Given the description of an element on the screen output the (x, y) to click on. 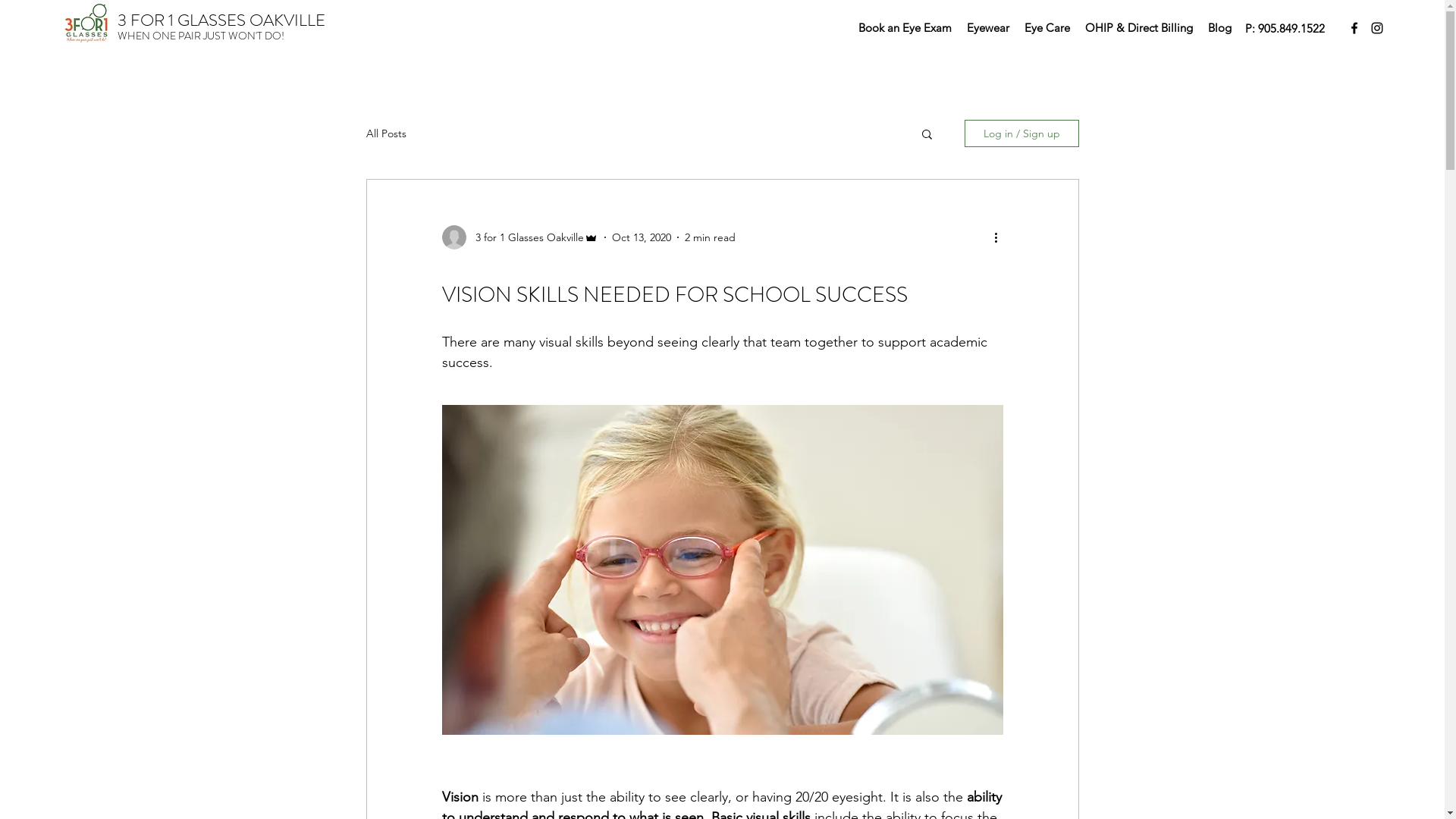
All Posts Element type: text (385, 133)
OHIP & Direct Billing Element type: text (1138, 27)
Eyewear Element type: text (987, 27)
Blog Element type: text (1219, 27)
Log in / Sign up Element type: text (1021, 133)
WHEN ONE PAIR JUST WON'T DO! Element type: text (200, 35)
3 FOR 1 GLASSES OAKVILLE Element type: text (221, 19)
Book an Eye Exam Element type: text (904, 27)
Eye Care Element type: text (1046, 27)
